Given the description of an element on the screen output the (x, y) to click on. 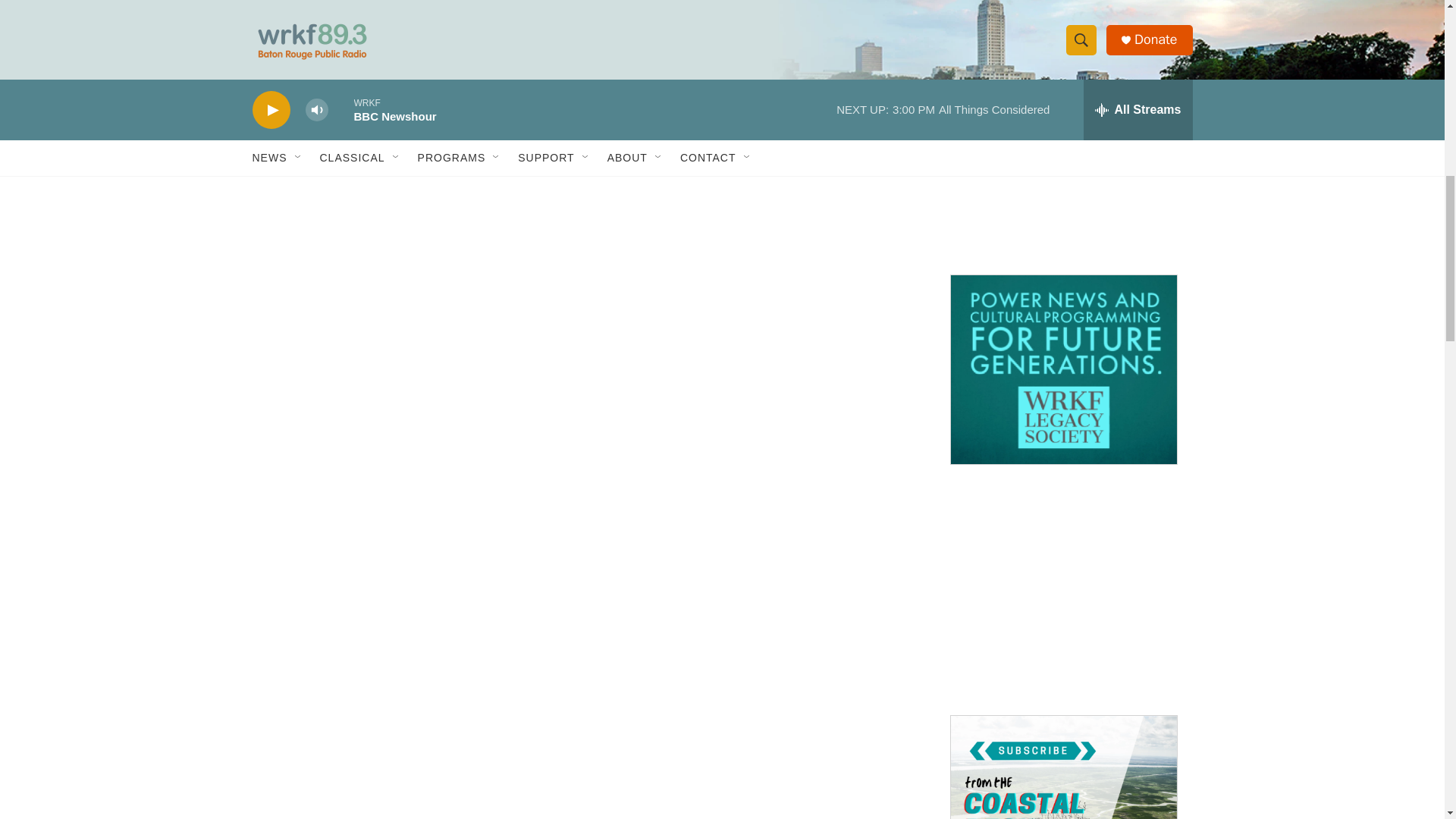
3rd party ad content (1062, 149)
3rd party ad content (1062, 589)
